Given the description of an element on the screen output the (x, y) to click on. 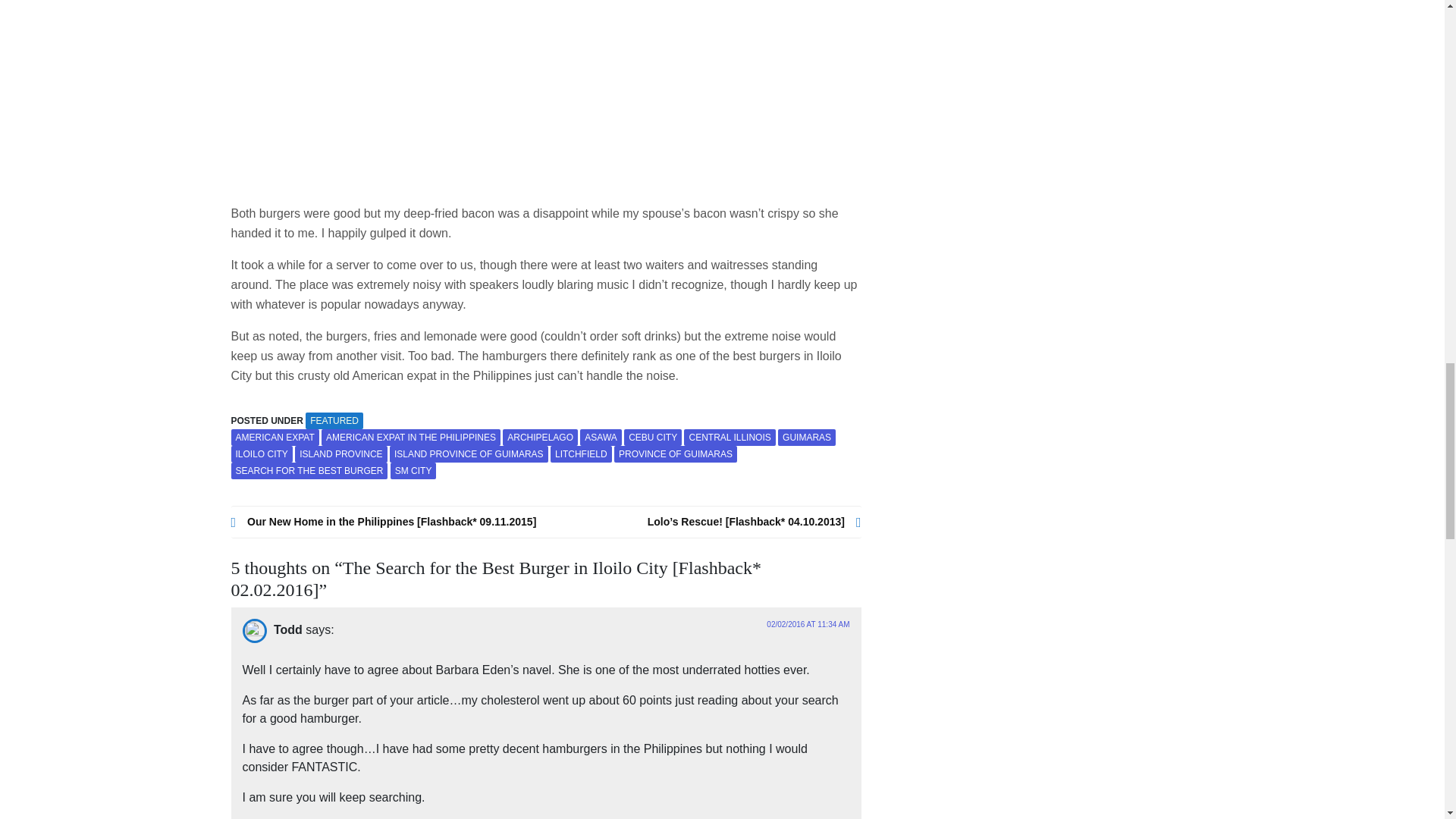
ASAWA (600, 437)
ISLAND PROVINCE (341, 453)
CEBU CITY (652, 437)
AMERICAN EXPAT IN THE PHILIPPINES (410, 437)
GUIMARAS (806, 437)
LITCHFIELD (580, 453)
ILOILO CITY (261, 453)
AMERICAN EXPAT (274, 437)
ARCHIPELAGO (540, 437)
PROVINCE OF GUIMARAS (675, 453)
FEATURED (333, 420)
SEARCH FOR THE BEST BURGER (308, 470)
CENTRAL ILLINOIS (729, 437)
SM CITY (413, 470)
ISLAND PROVINCE OF GUIMARAS (469, 453)
